Given the description of an element on the screen output the (x, y) to click on. 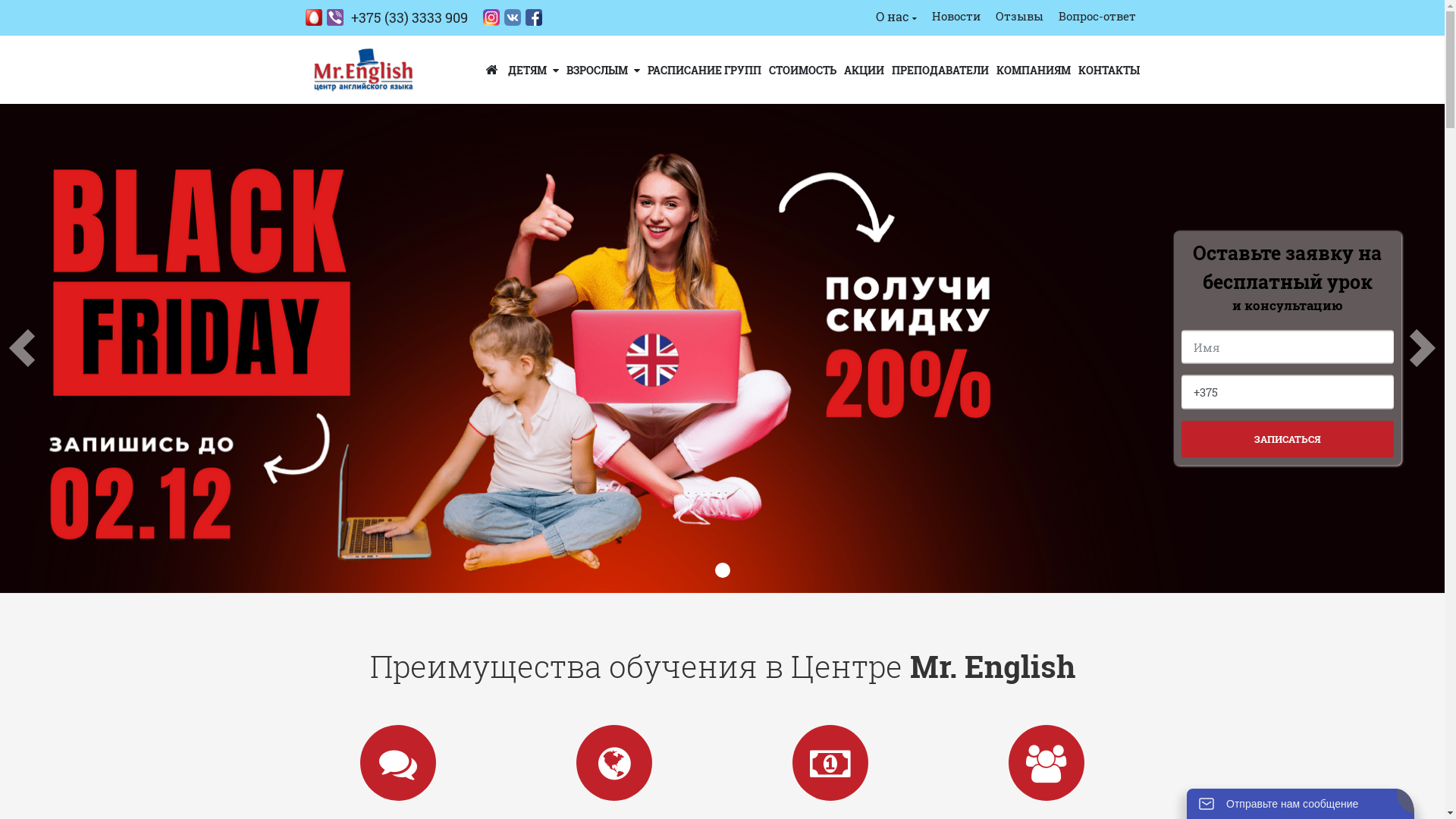
Next Element type: text (1422, 348)
+375 (33) 3333 909 Element type: text (385, 17)
Previous Element type: text (21, 348)
